Given the description of an element on the screen output the (x, y) to click on. 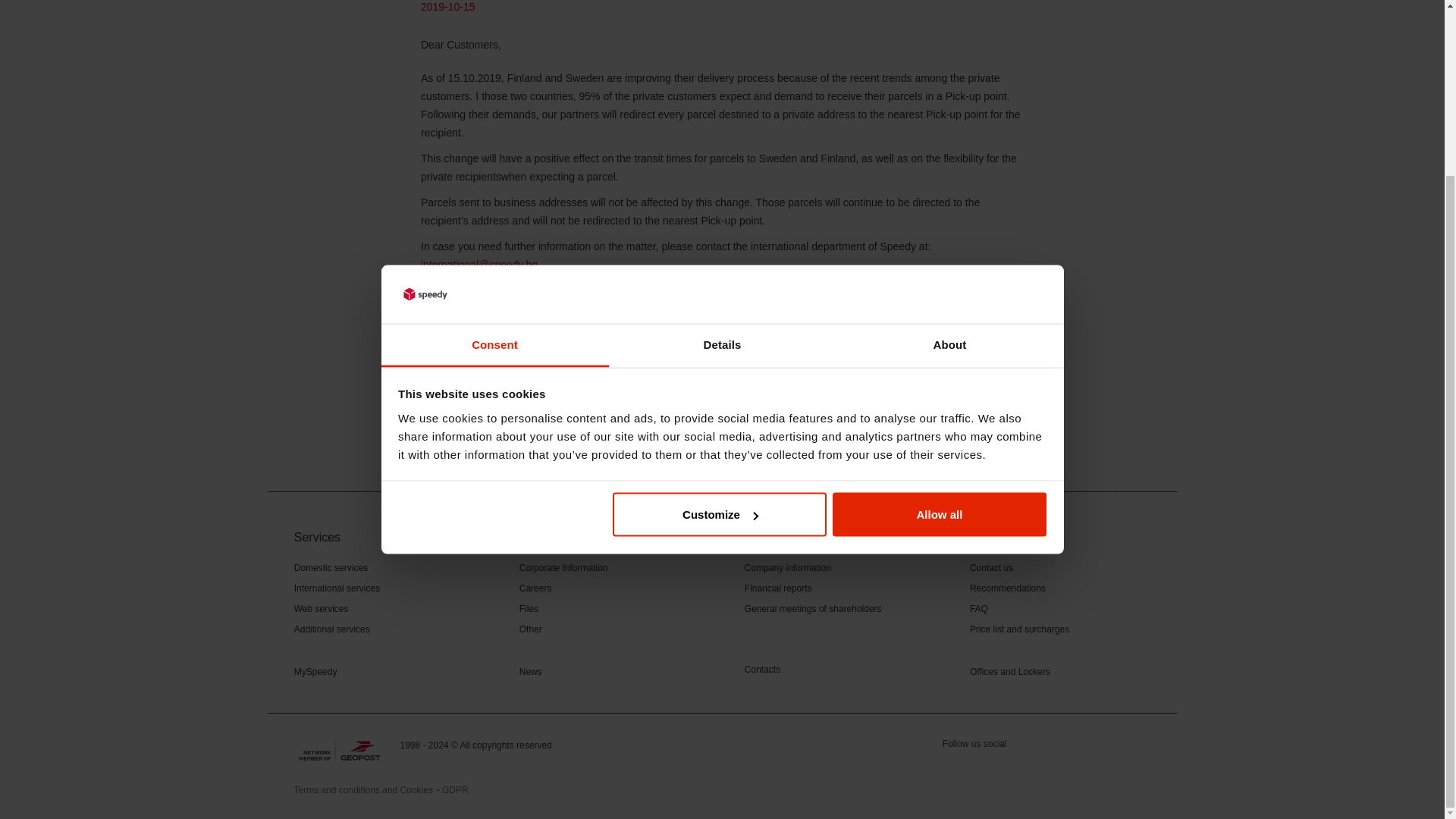
Customize (719, 300)
Allow all (939, 300)
About (948, 131)
Consent (494, 131)
Details (721, 131)
